Given the description of an element on the screen output the (x, y) to click on. 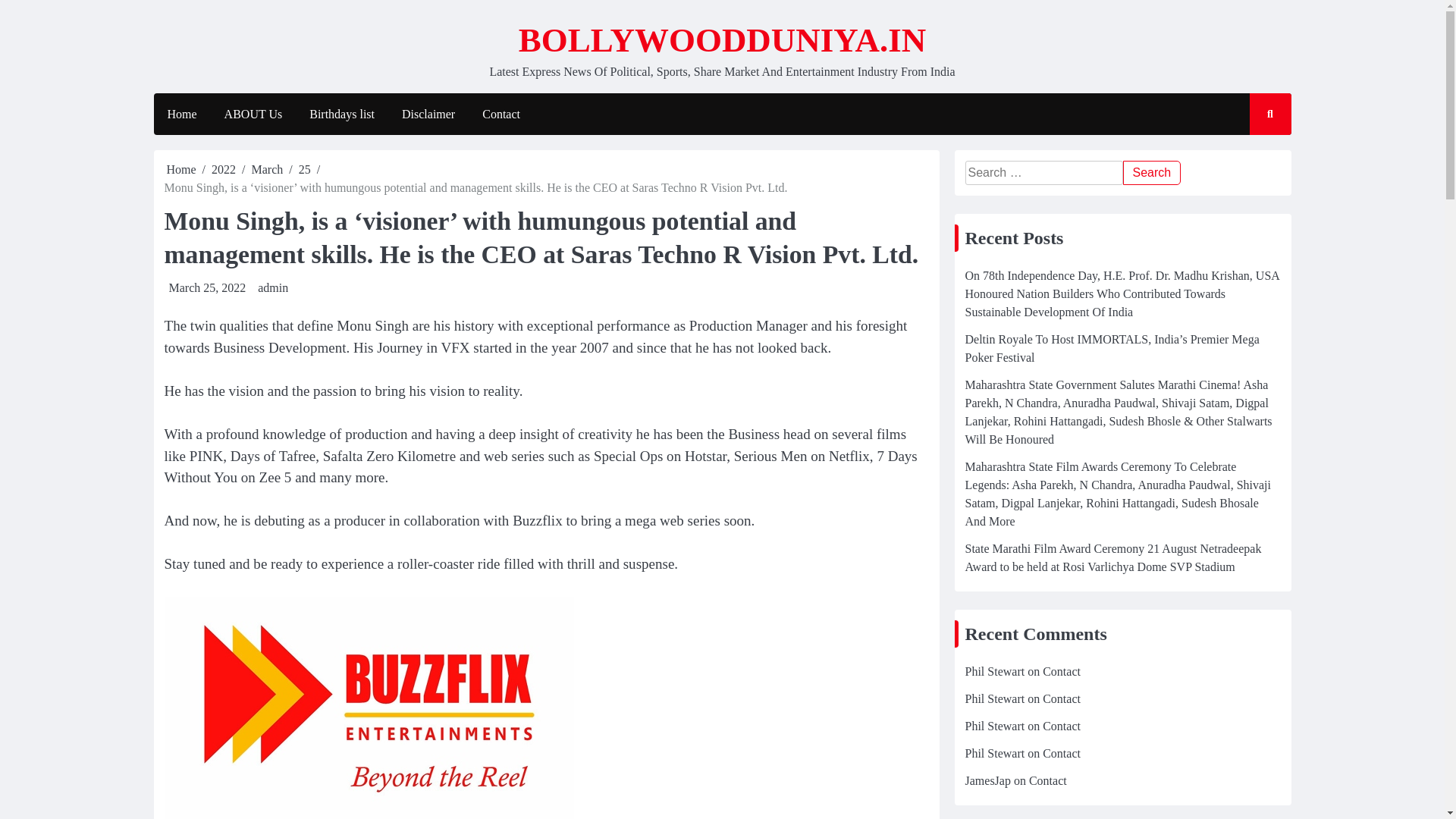
Home (181, 169)
Disclaimer (428, 114)
Home (180, 114)
March (267, 169)
ABOUT Us (254, 114)
BOLLYWOODDUNIYA.IN (722, 39)
March 25, 2022 (207, 287)
Search (1151, 172)
Search (1151, 172)
admin (272, 287)
